Given the description of an element on the screen output the (x, y) to click on. 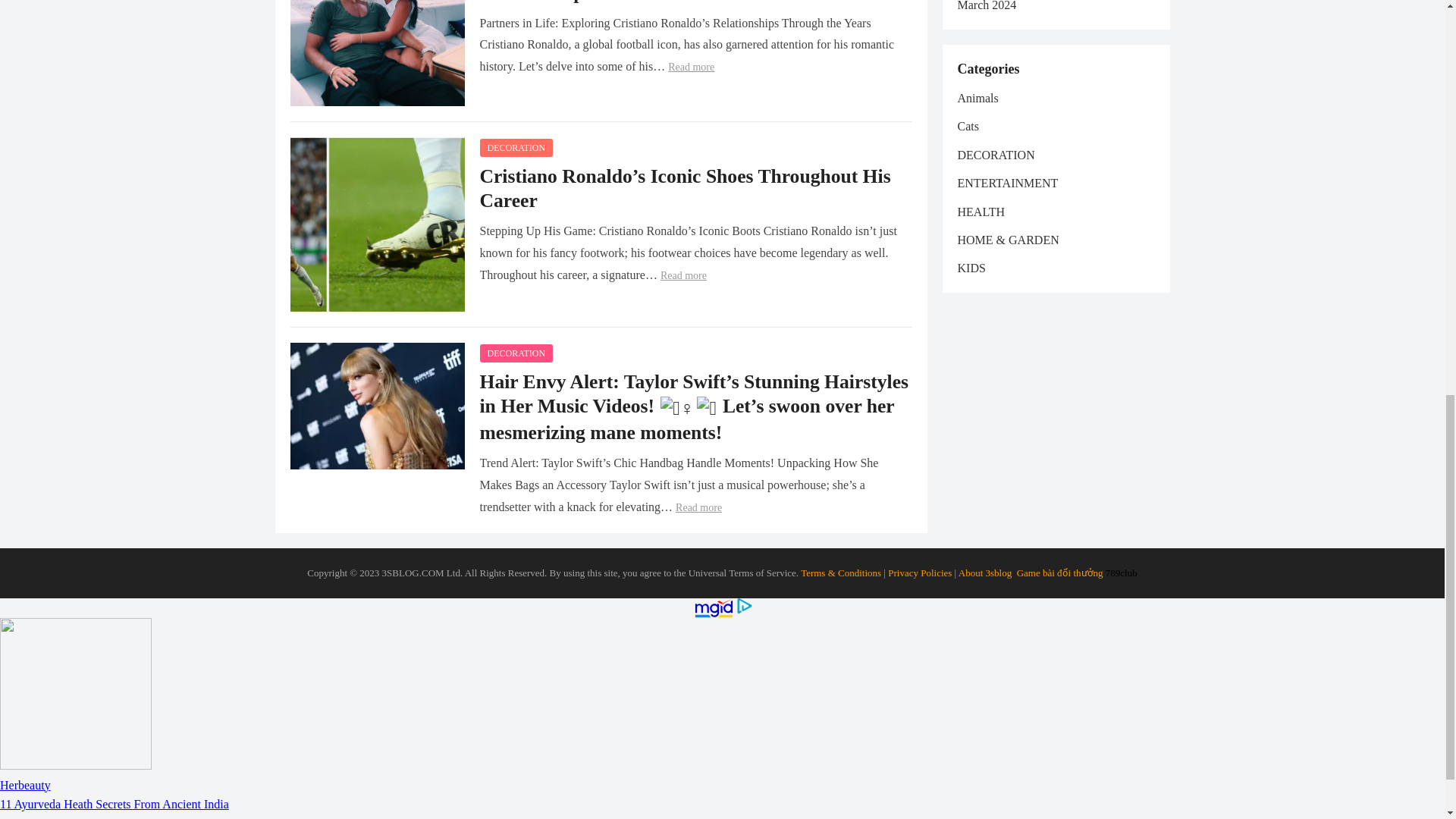
Read more (683, 275)
DECORATION (516, 147)
Read more (691, 66)
